Given the description of an element on the screen output the (x, y) to click on. 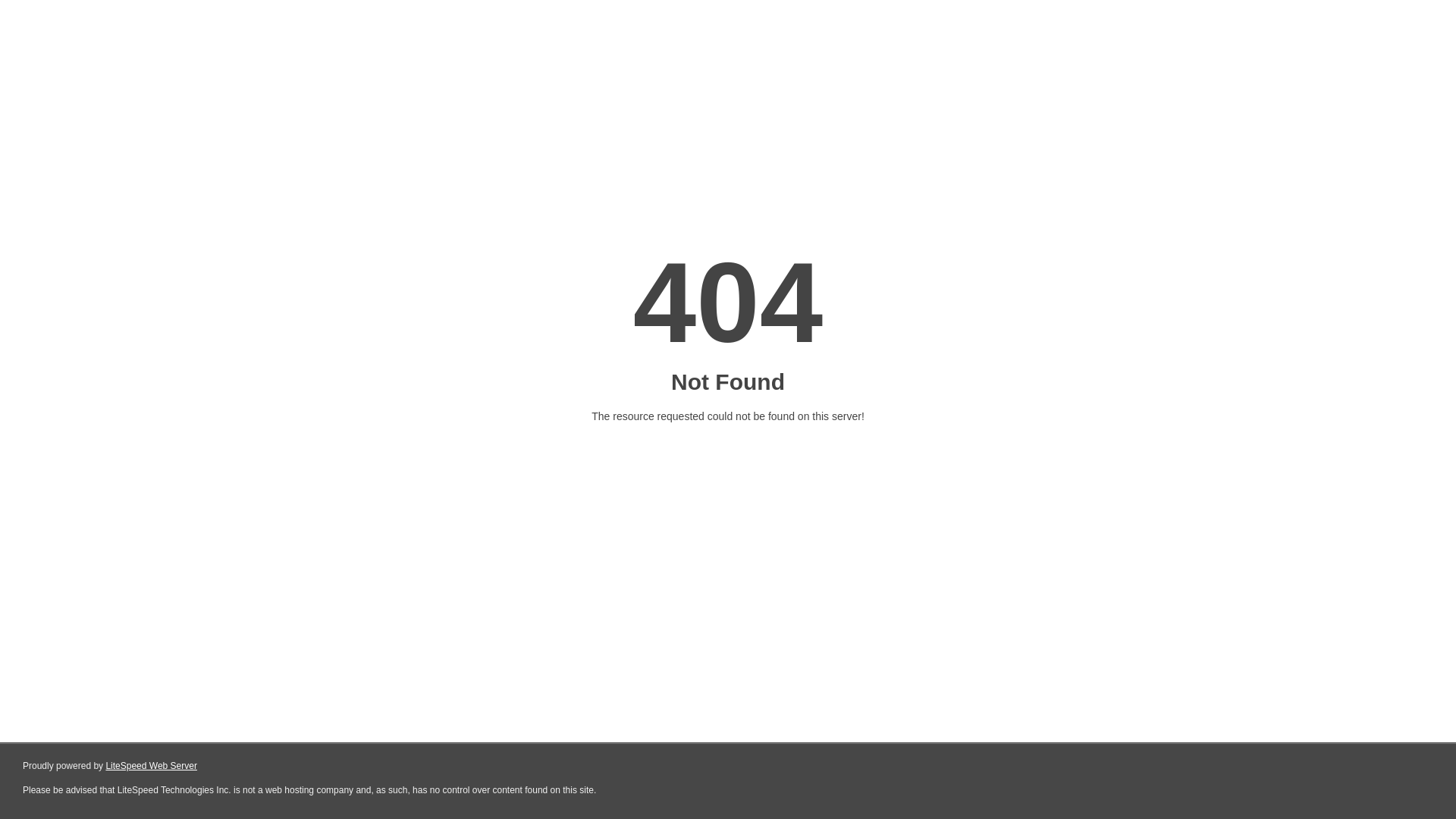
LiteSpeed Web Server Element type: text (151, 765)
